Given the description of an element on the screen output the (x, y) to click on. 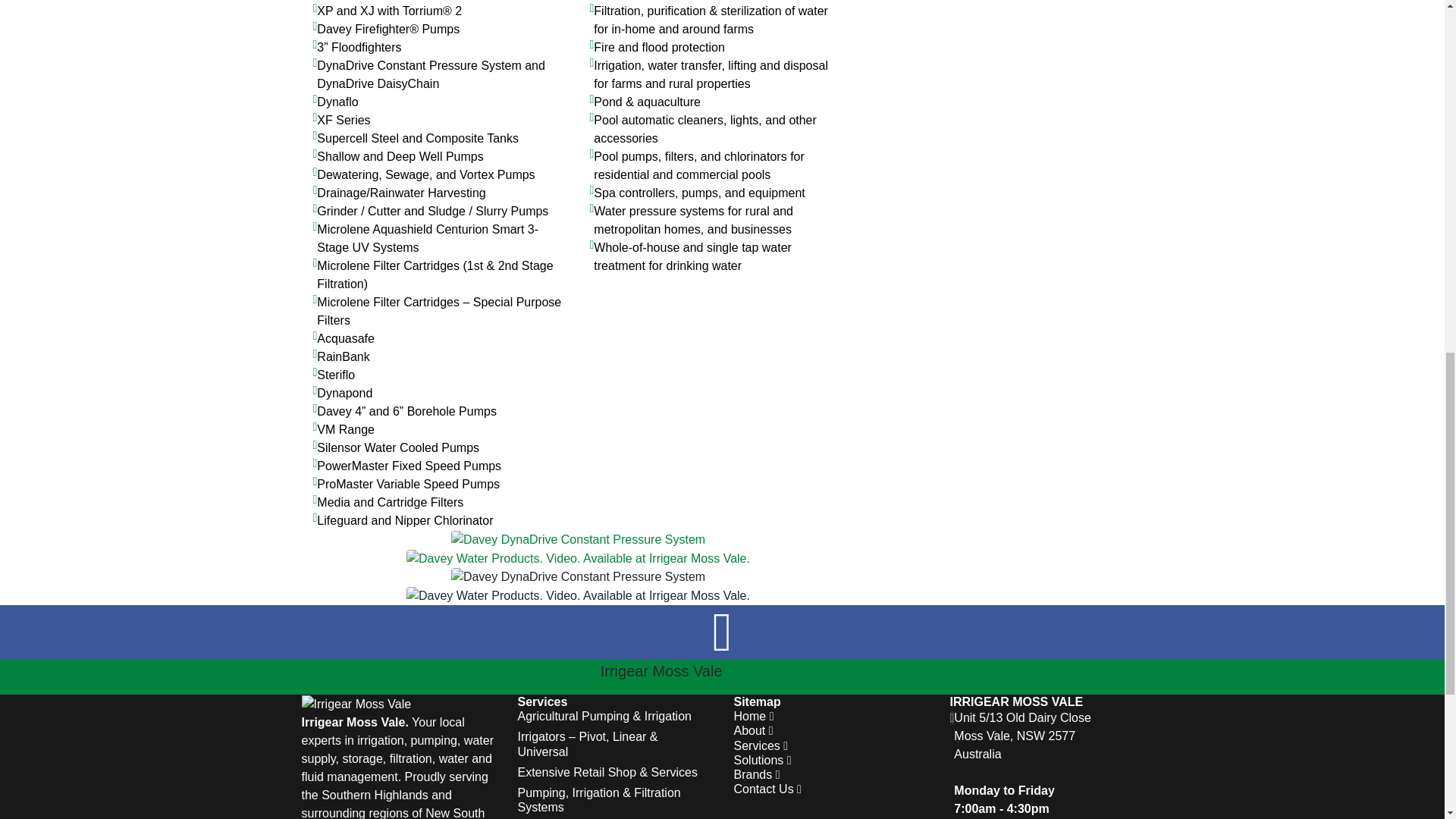
About (753, 730)
Services (761, 745)
Solutions (762, 759)
Contact Us (767, 788)
Brands (756, 774)
Davey DynaDrive Constant Pressure System (578, 538)
Contact Us Today (783, 676)
Home (753, 716)
